Given the description of an element on the screen output the (x, y) to click on. 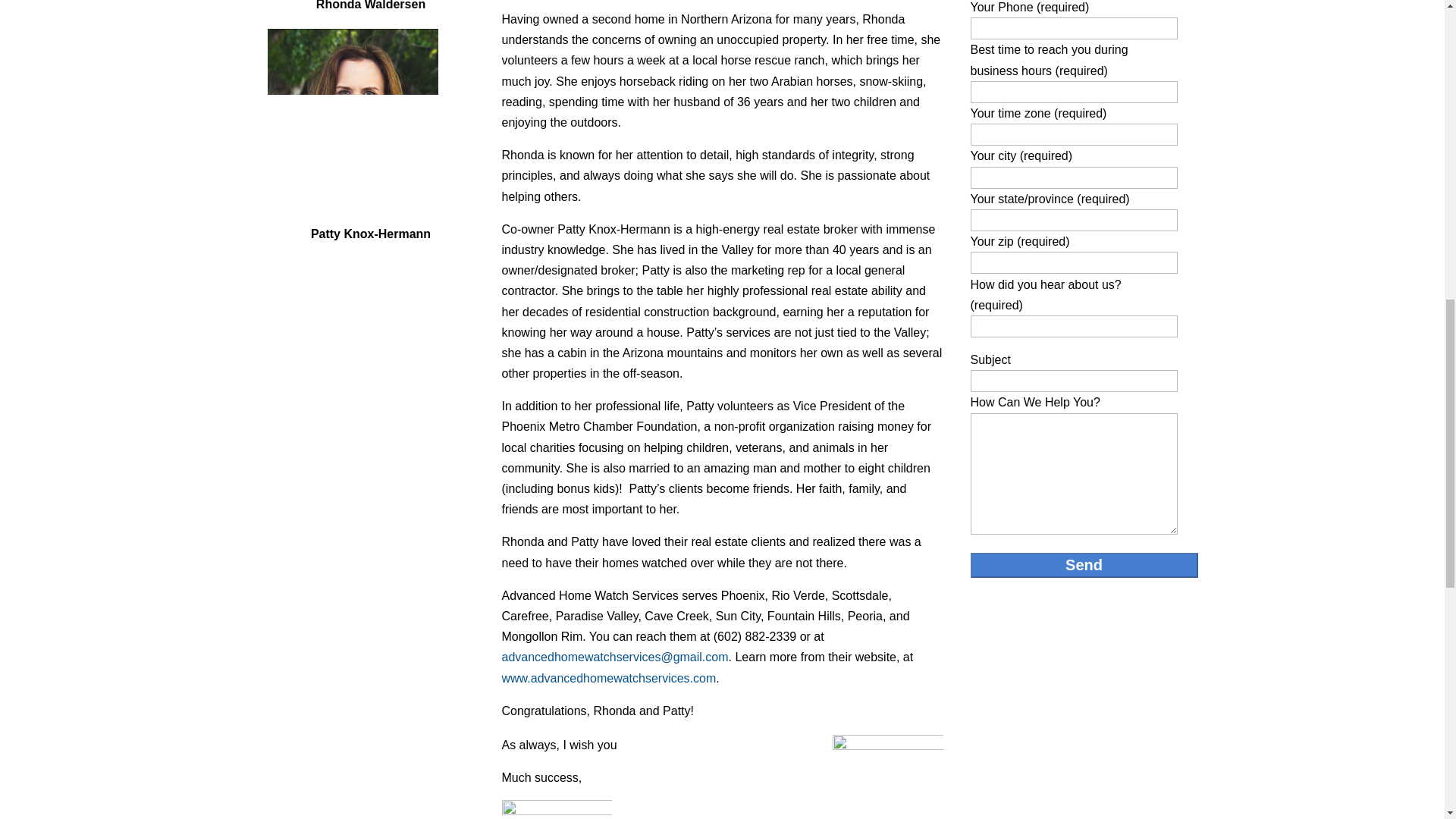
www.advancedhomewatchservices.com (609, 677)
Send (1084, 565)
Patty Knox-Hermann (352, 118)
Send (1084, 565)
